Given the description of an element on the screen output the (x, y) to click on. 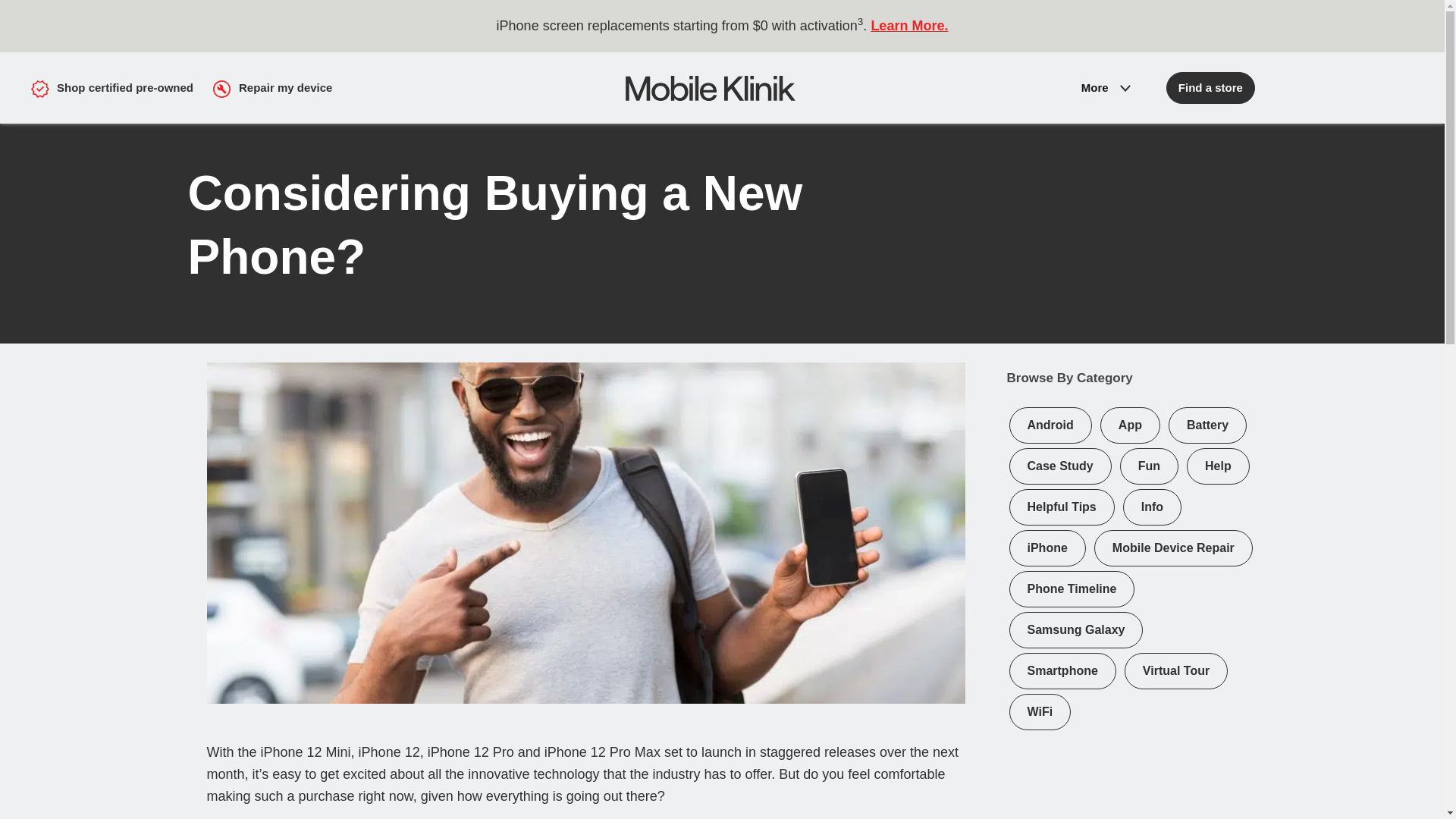
Mobile Device Repair (1173, 547)
App (1129, 424)
Helpful Tips (1061, 506)
Battery (1207, 424)
Repair my device (271, 87)
Find a store (1210, 88)
Special offers (1158, 146)
Case Study (1060, 465)
Phone Timeline (1071, 588)
Info (1152, 506)
Mobile Klinik (847, 87)
Shop certified pre-owned (111, 87)
Samsung Galaxy (1076, 629)
iPhone (1047, 547)
Help (1218, 465)
